Given the description of an element on the screen output the (x, y) to click on. 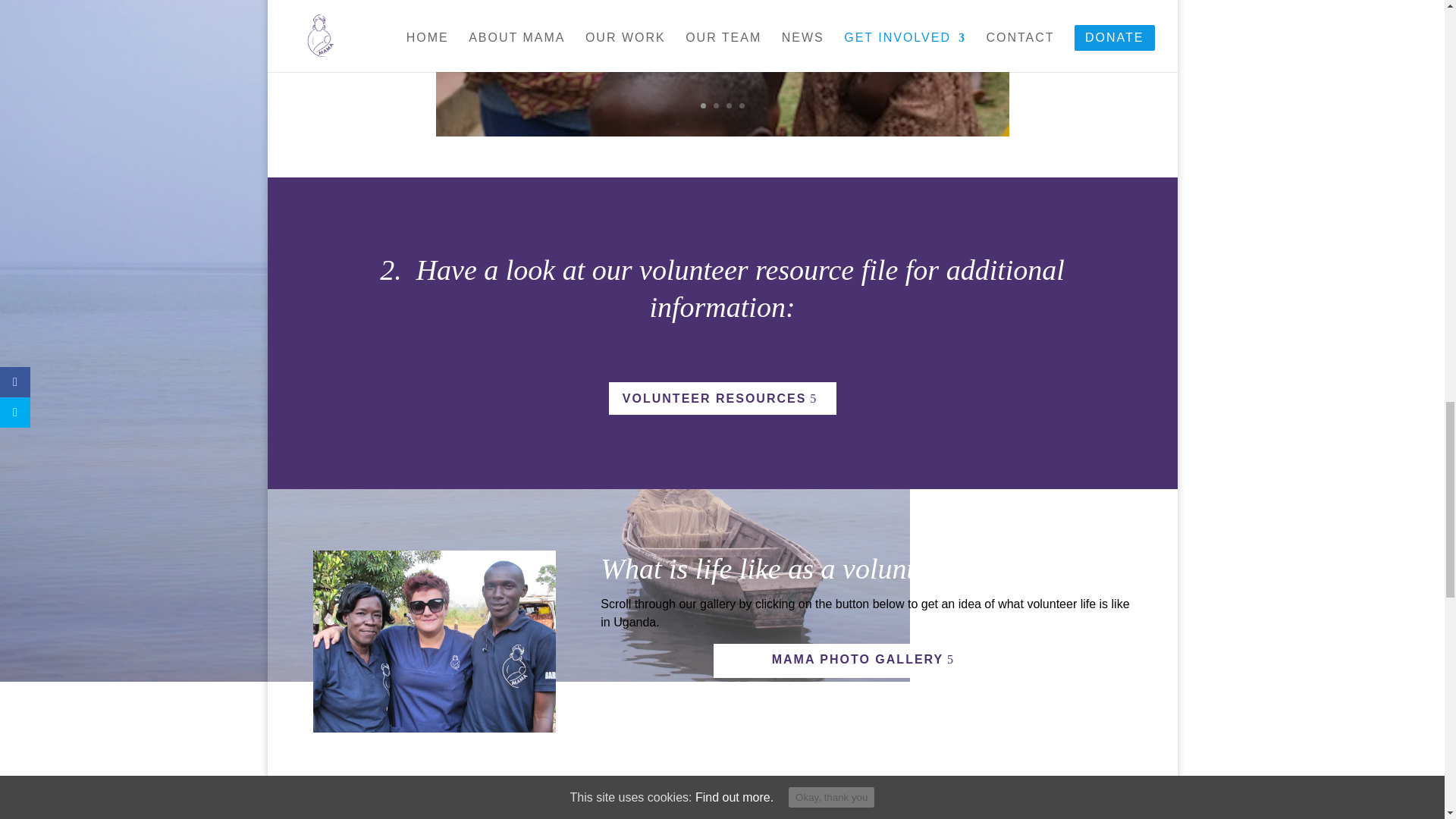
READ MORE (875, 25)
